Given the description of an element on the screen output the (x, y) to click on. 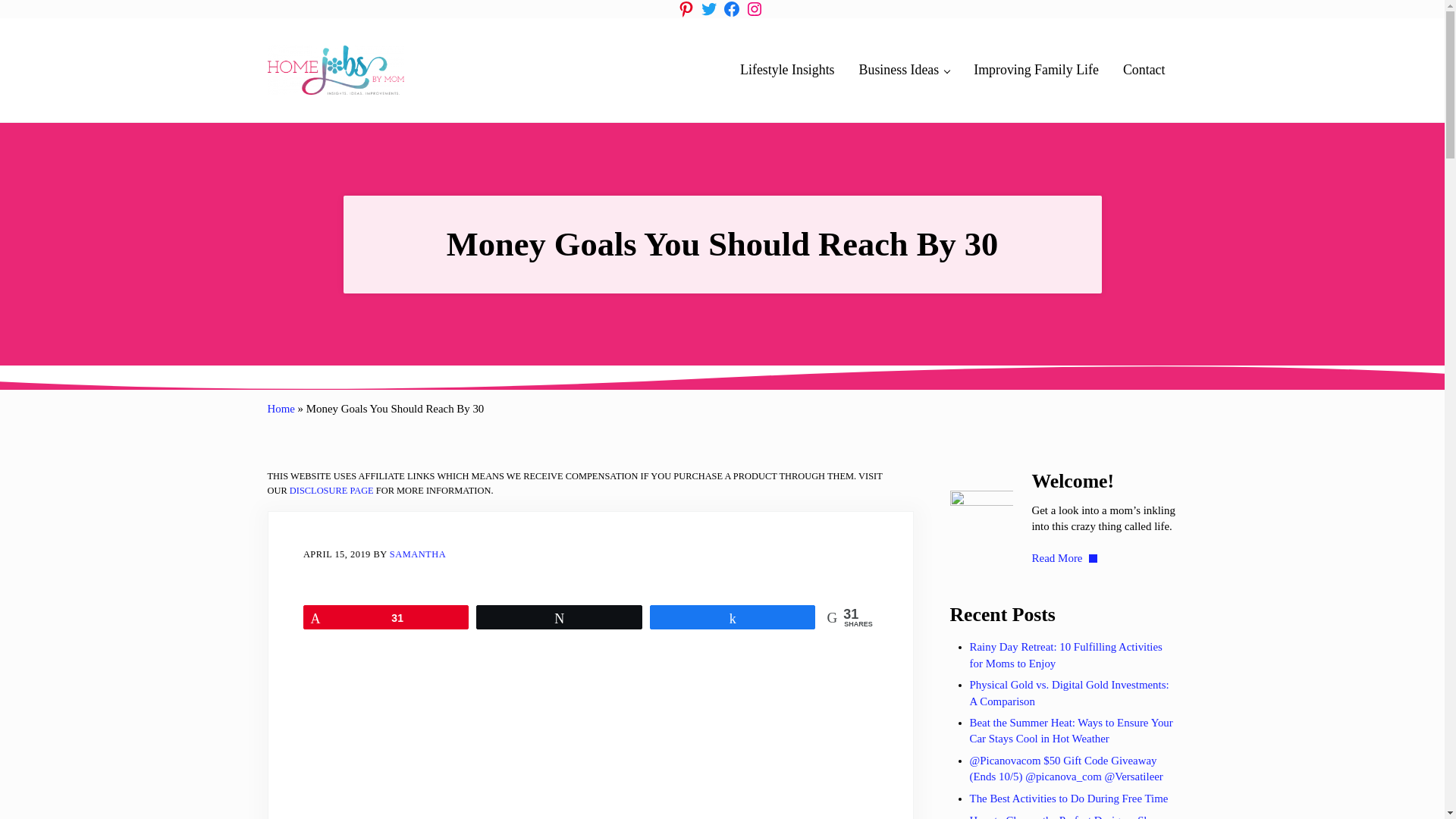
DISCLOSURE PAGE (331, 490)
SAMANTHA (417, 553)
31 (386, 617)
Pinterest (685, 9)
Home (280, 408)
Instagram (753, 9)
Lifestyle Insights (787, 69)
Twitter (707, 9)
Contact (1143, 69)
